Given the description of an element on the screen output the (x, y) to click on. 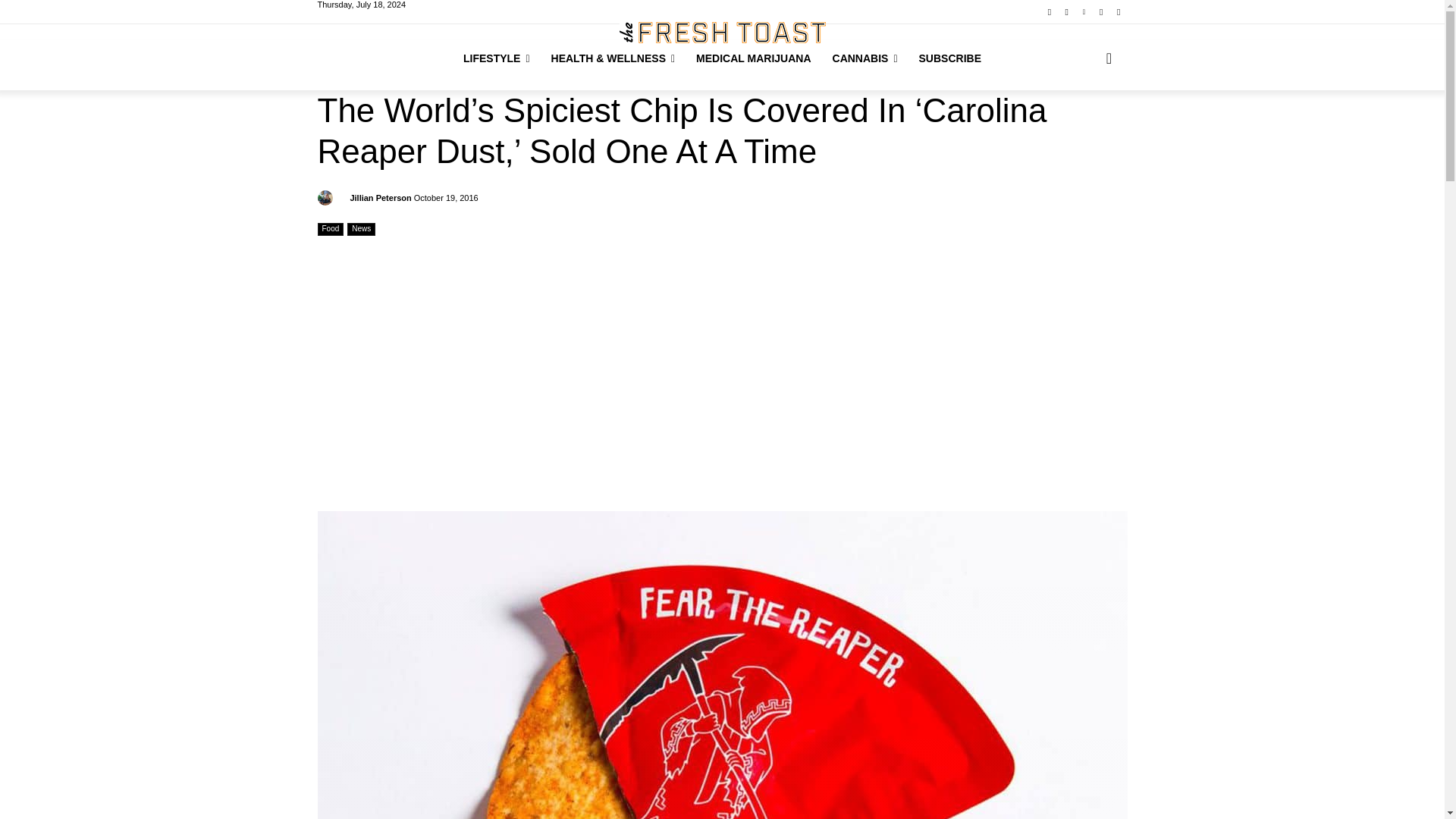
LIFESTYLE (496, 58)
